Given the description of an element on the screen output the (x, y) to click on. 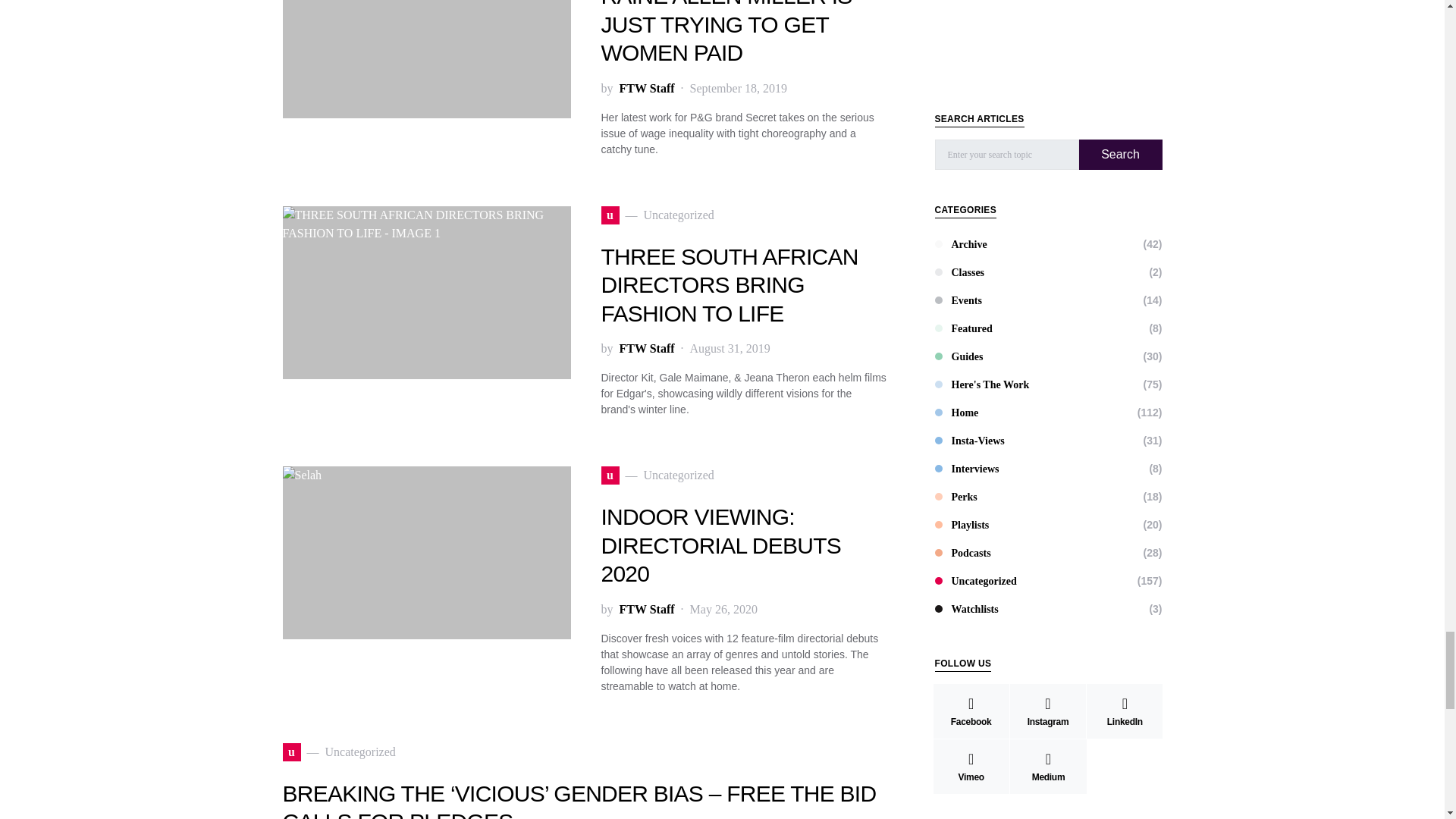
View all posts by FTW Staff (646, 609)
View all posts by FTW Staff (646, 348)
View all posts by FTW Staff (646, 88)
